Given the description of an element on the screen output the (x, y) to click on. 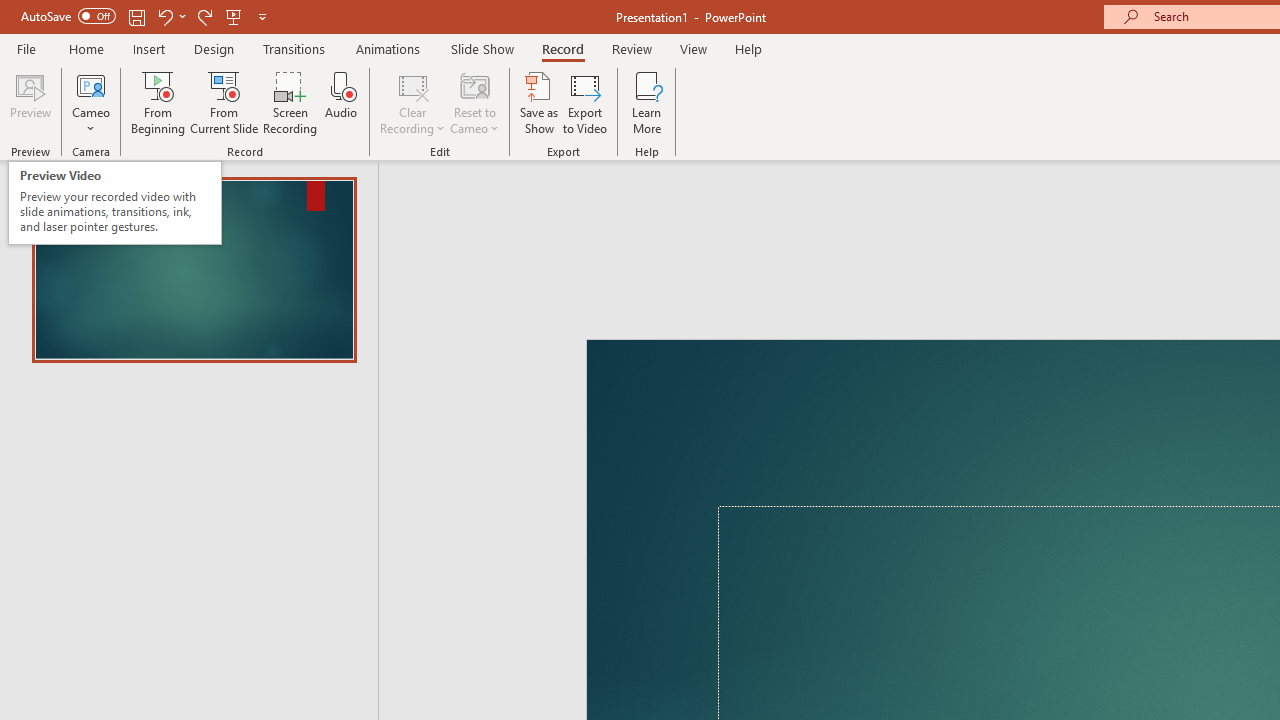
Learn More (646, 102)
Audio (341, 102)
Reset to Cameo (474, 102)
Save as Show (539, 102)
